Given the description of an element on the screen output the (x, y) to click on. 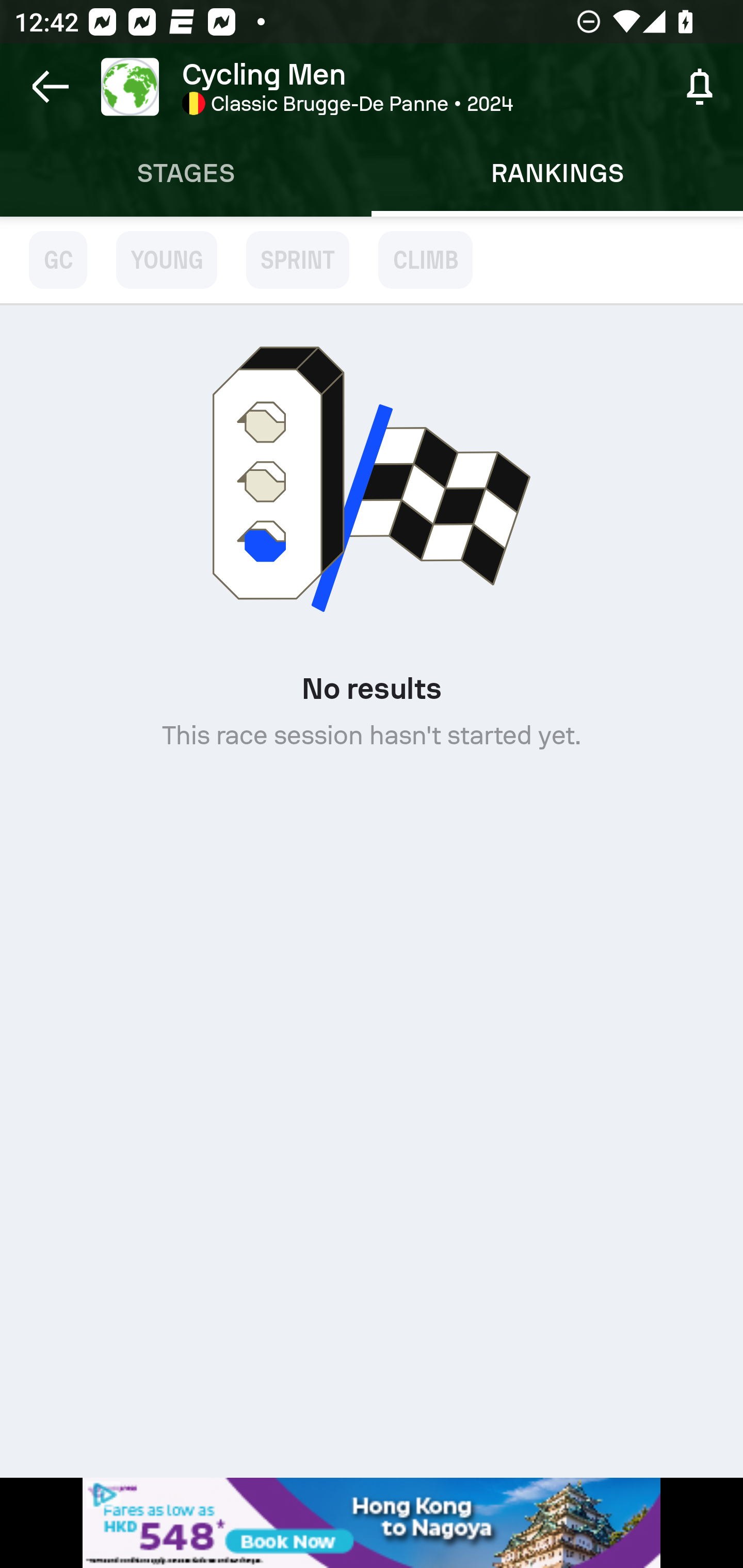
Navigate up (50, 86)
Stages STAGES (185, 173)
wi46309w_320x50 (371, 1522)
